Given the description of an element on the screen output the (x, y) to click on. 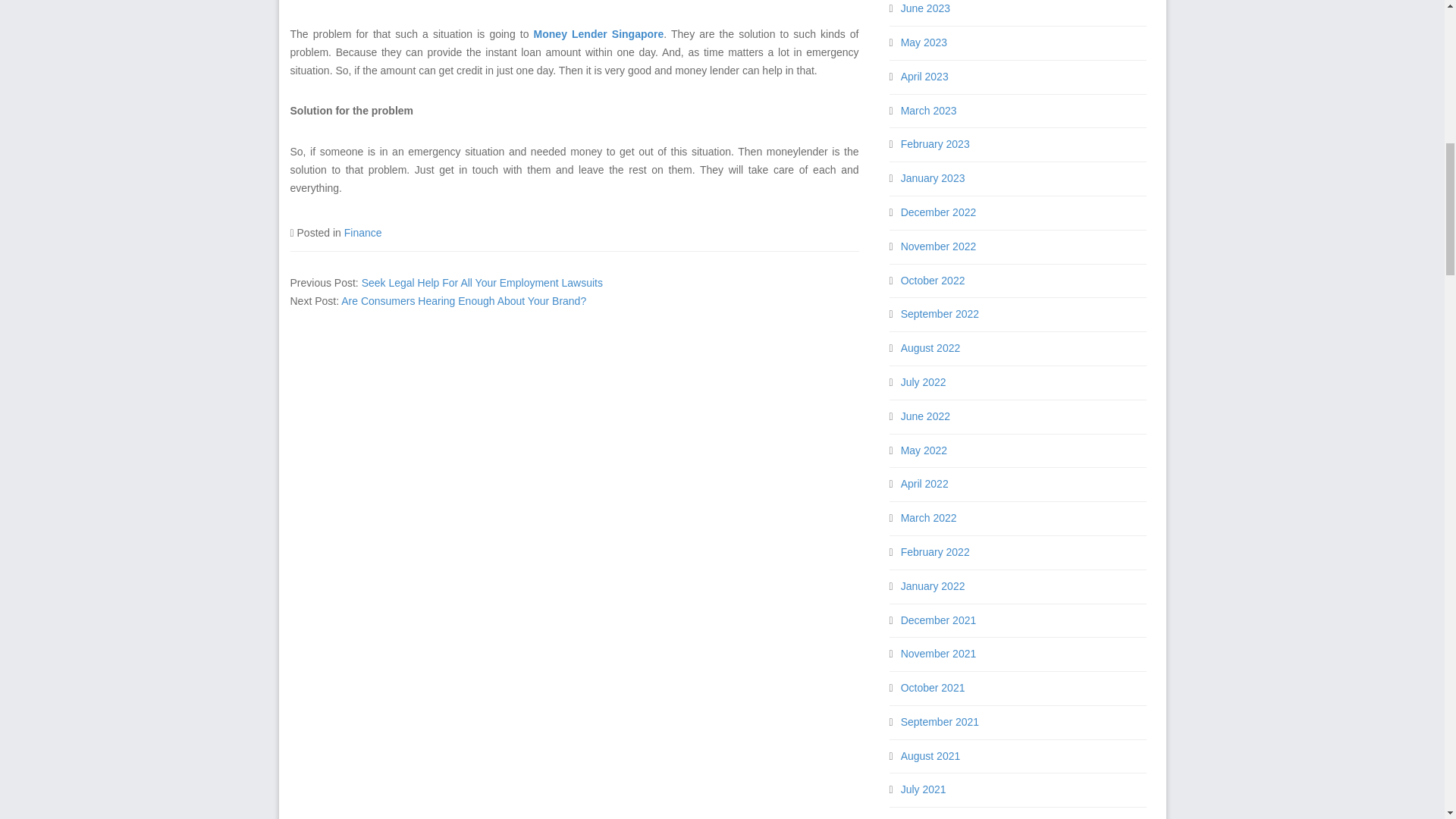
March 2023 (928, 110)
April 2023 (925, 76)
February 2023 (935, 143)
November 2022 (938, 246)
January 2023 (933, 177)
Seek Legal Help For All Your Employment Lawsuits (481, 282)
December 2022 (938, 212)
Finance (362, 232)
May 2023 (924, 42)
Are Consumers Hearing Enough About Your Brand? (463, 300)
